Given the description of an element on the screen output the (x, y) to click on. 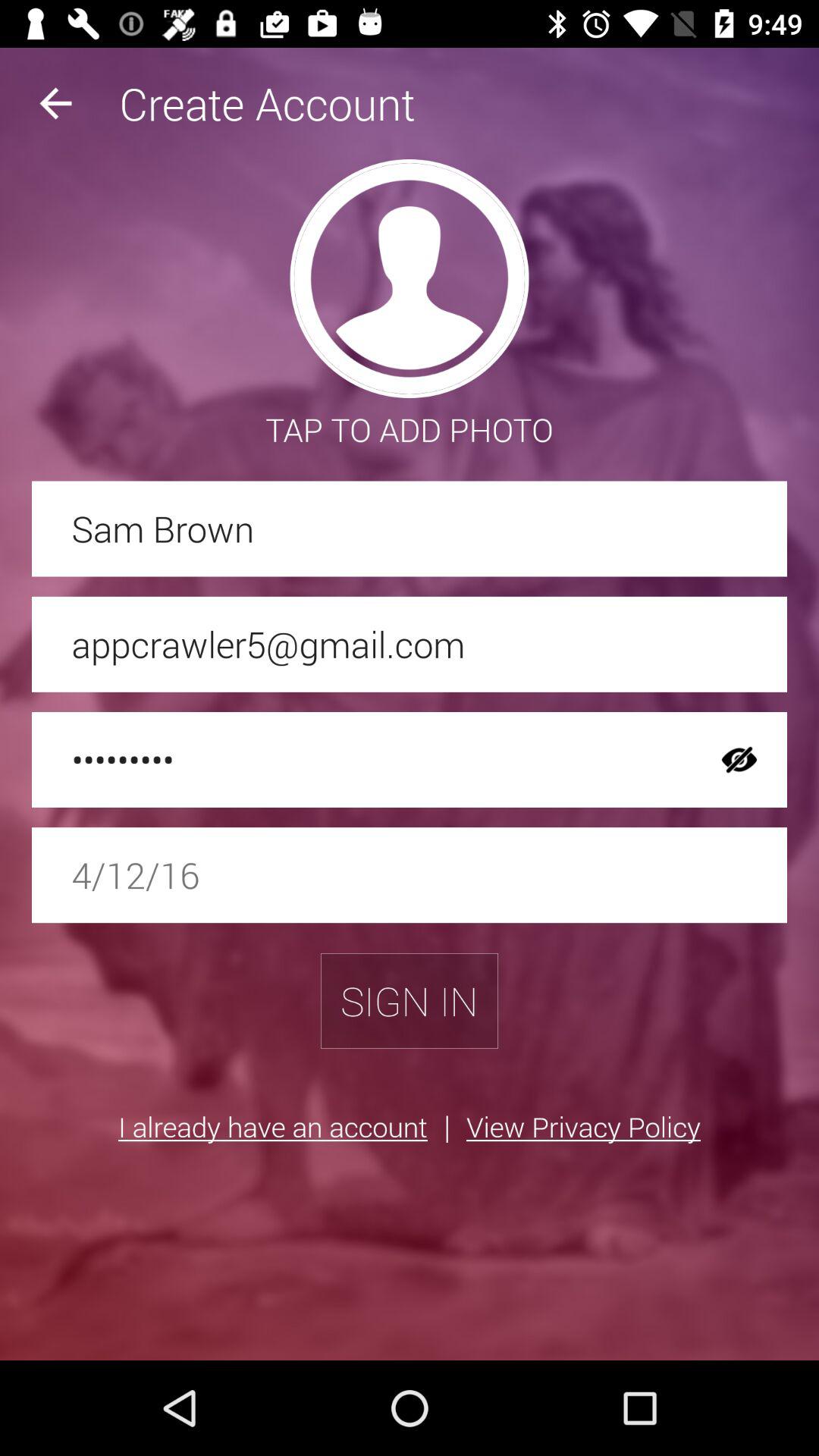
select item next to the   |   icon (272, 1126)
